Given the description of an element on the screen output the (x, y) to click on. 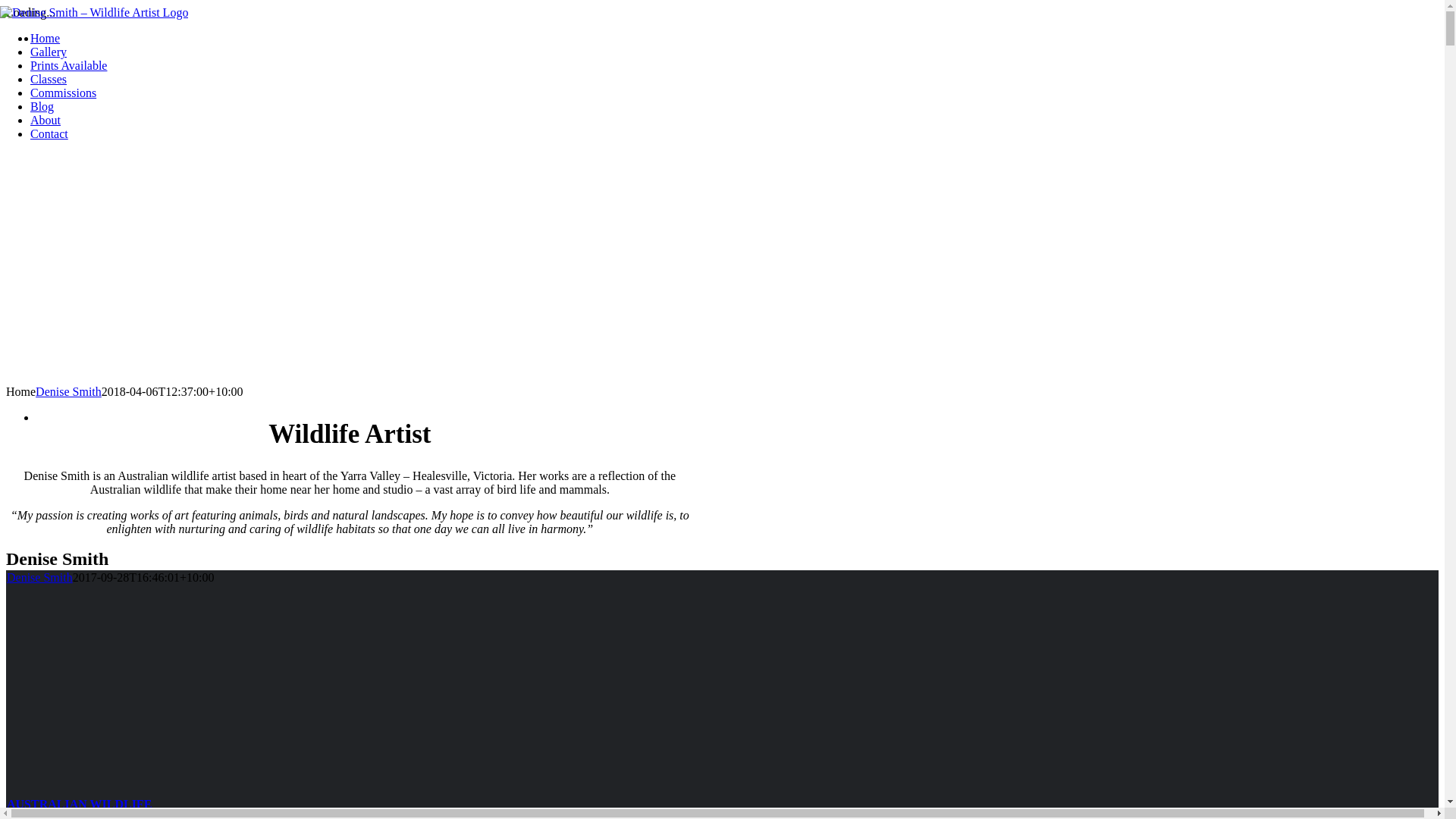
Contact Element type: text (49, 133)
Home Element type: text (44, 37)
Commissions Element type: text (63, 92)
Gallery Element type: text (48, 51)
Denise Smith Element type: text (68, 391)
Blog Element type: text (41, 106)
About Element type: text (45, 119)
Prints Available Element type: text (68, 65)
Skip to content Element type: text (5, 5)
Classes Element type: text (48, 78)
AUSTRALIAN WILDLIFE Element type: text (78, 803)
Denise Smith Element type: text (39, 577)
